Given the description of an element on the screen output the (x, y) to click on. 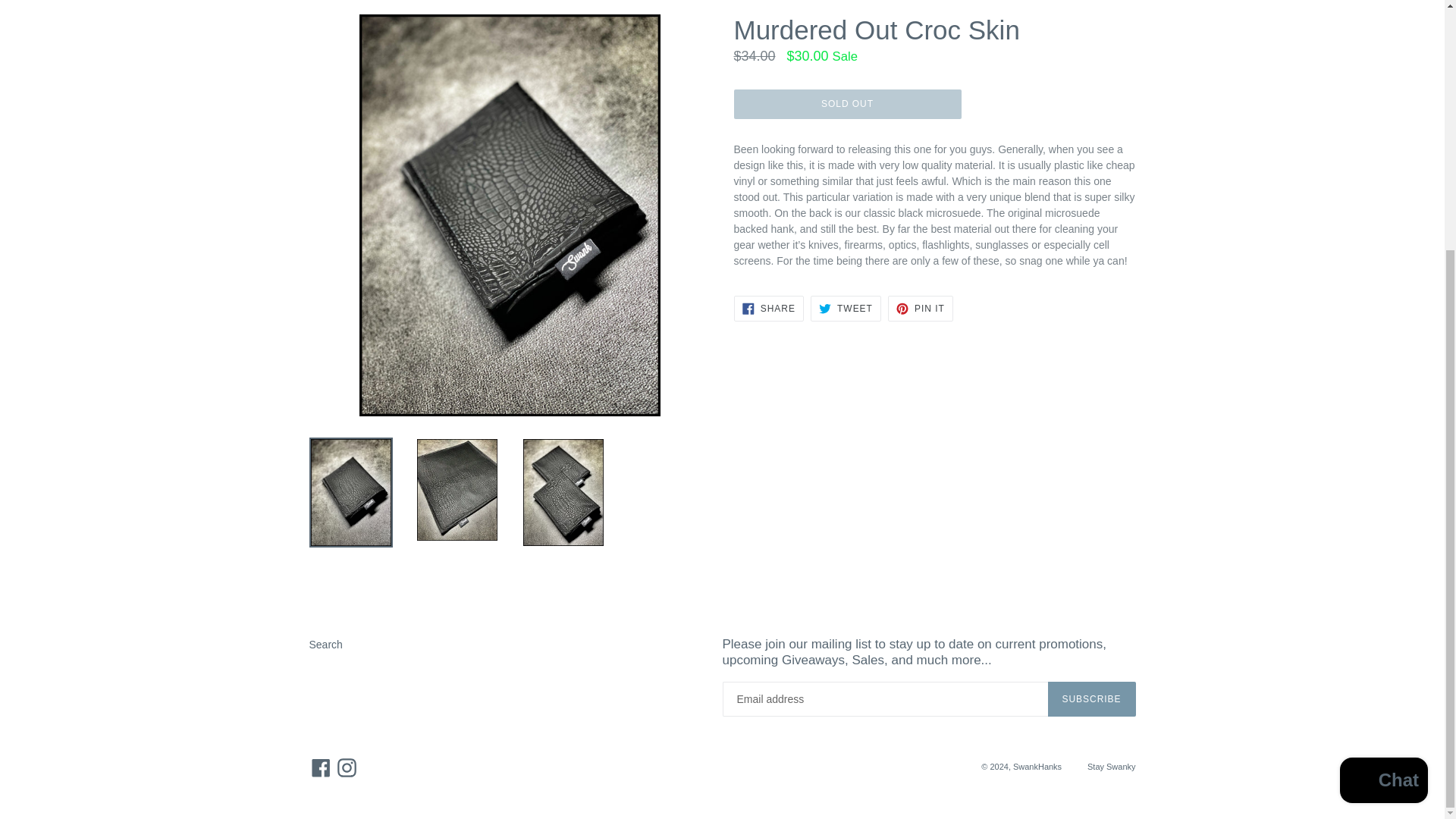
Stay Swanky (1111, 766)
Share on Facebook (768, 308)
Tweet on Twitter (768, 308)
SUBSCRIBE (845, 308)
SOLD OUT (920, 308)
Pin on Pinterest (1091, 698)
Facebook (845, 308)
